Given the description of an element on the screen output the (x, y) to click on. 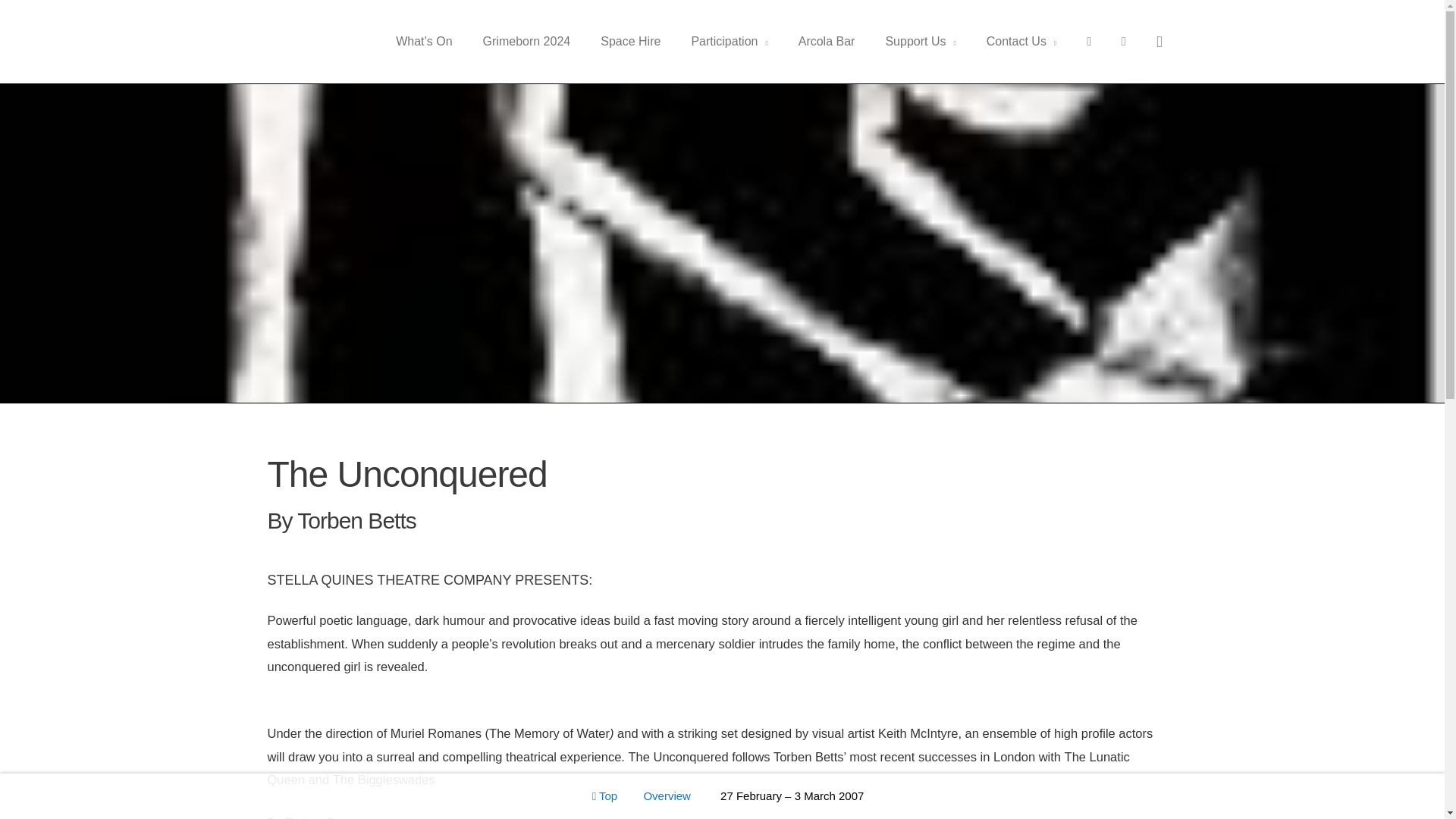
Arcola Bar (826, 41)
Contact Us (1021, 41)
Space Hire (630, 41)
Support Us (920, 41)
Overview (666, 795)
Grimeborn 2024 (526, 41)
Top (604, 795)
Participation (729, 41)
